Given the description of an element on the screen output the (x, y) to click on. 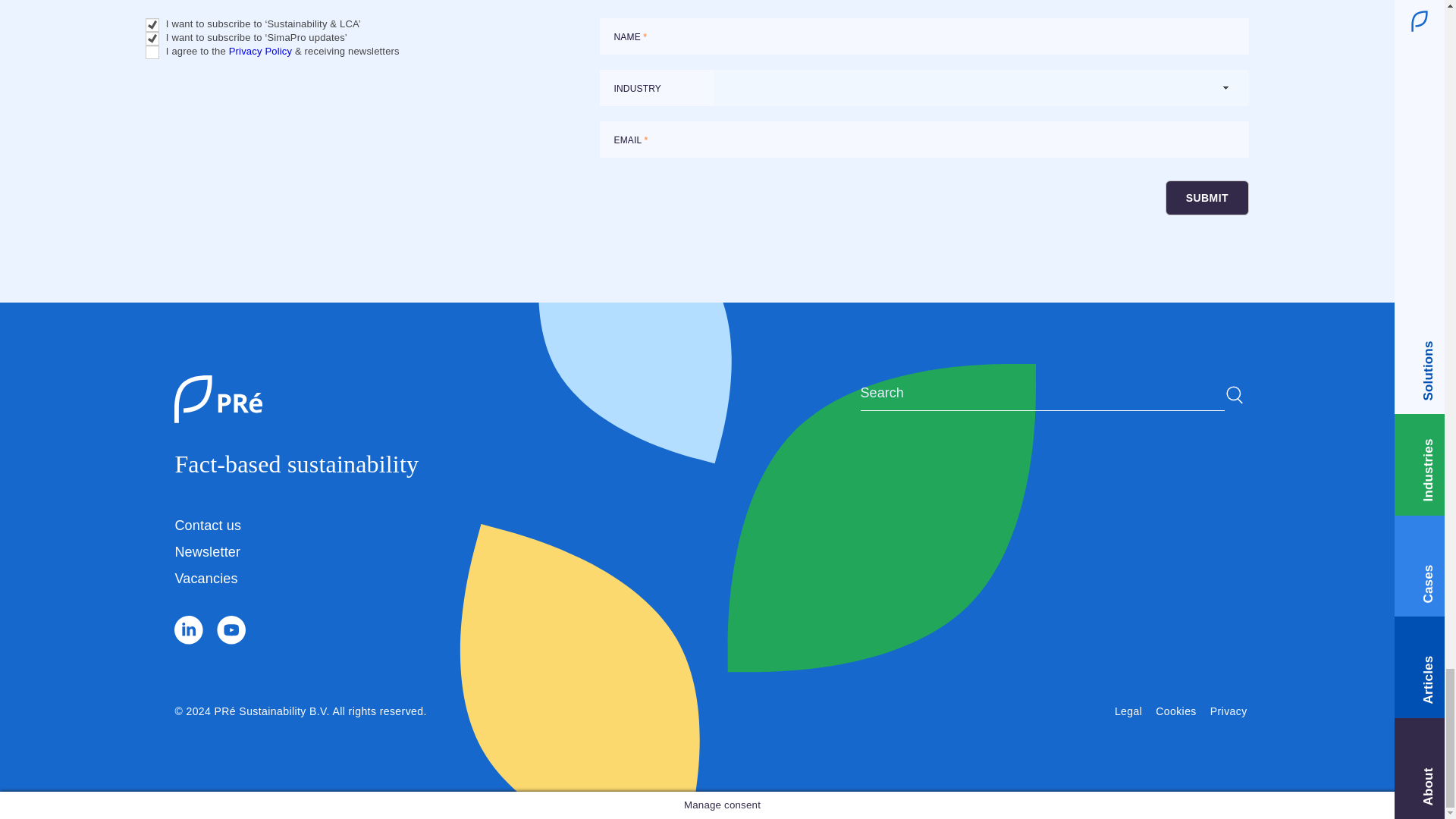
Sustainability and LCA (151, 24)
YouTube (231, 639)
accepted (151, 51)
SimaPro updates (151, 38)
LinkedIn (190, 639)
